Given the description of an element on the screen output the (x, y) to click on. 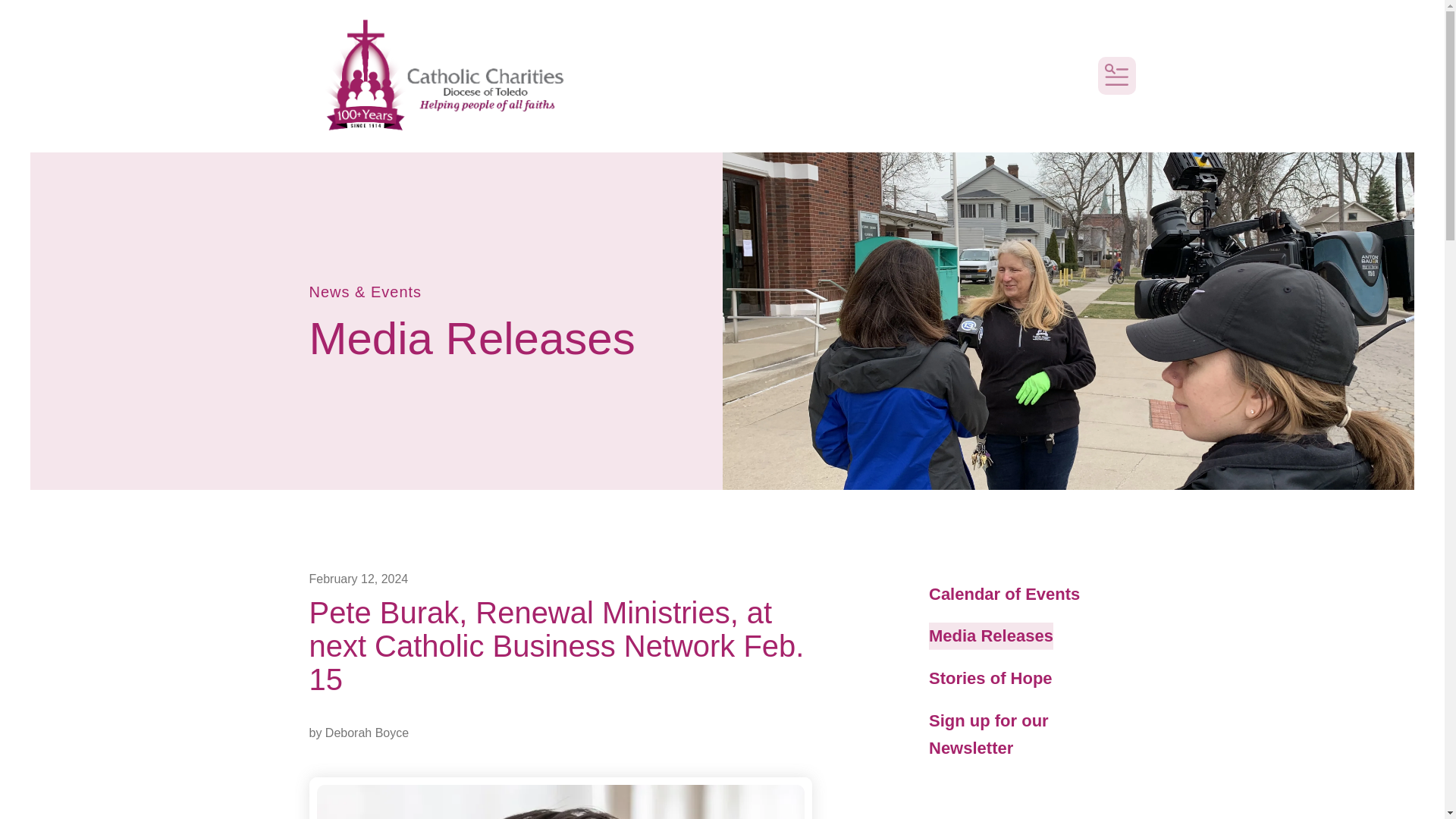
logo (437, 75)
